Given the description of an element on the screen output the (x, y) to click on. 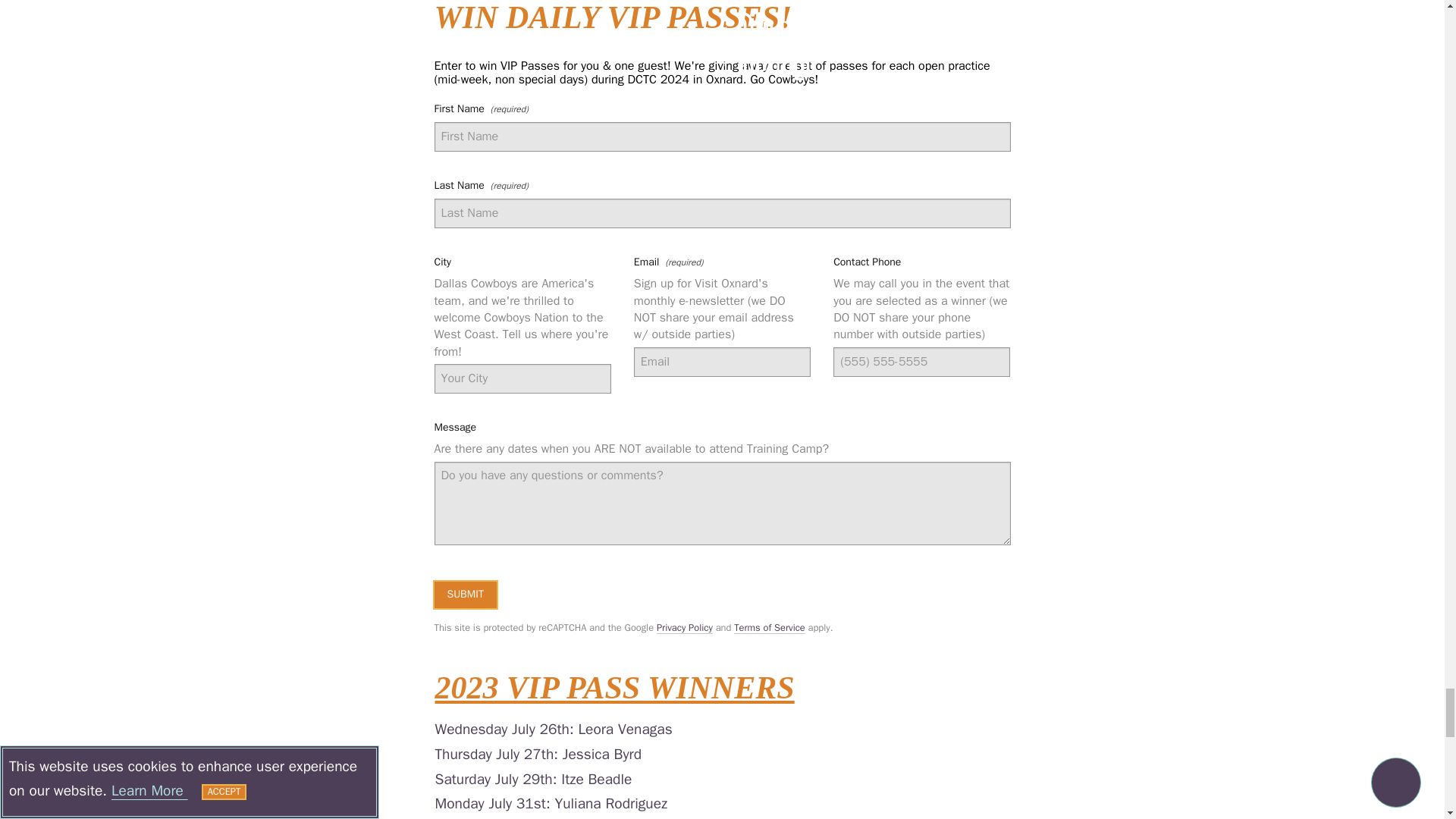
SUBMIT (464, 594)
Terms of Service (769, 627)
Privacy Policy (684, 627)
